Given the description of an element on the screen output the (x, y) to click on. 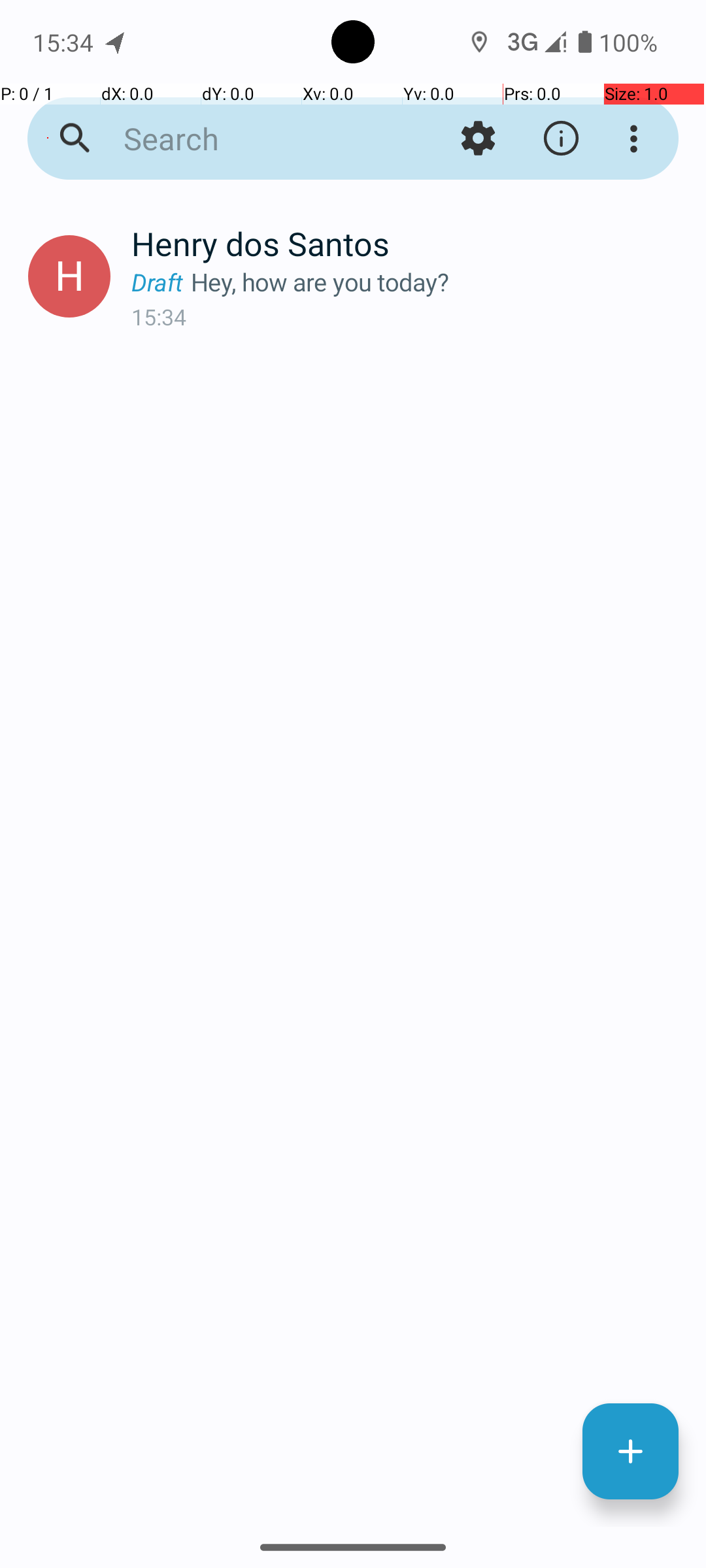
Henry dos Santos Element type: android.widget.TextView (408, 242)
Draft Element type: android.widget.TextView (160, 281)
Hey, how are you today? Element type: android.widget.TextView (437, 281)
